Given the description of an element on the screen output the (x, y) to click on. 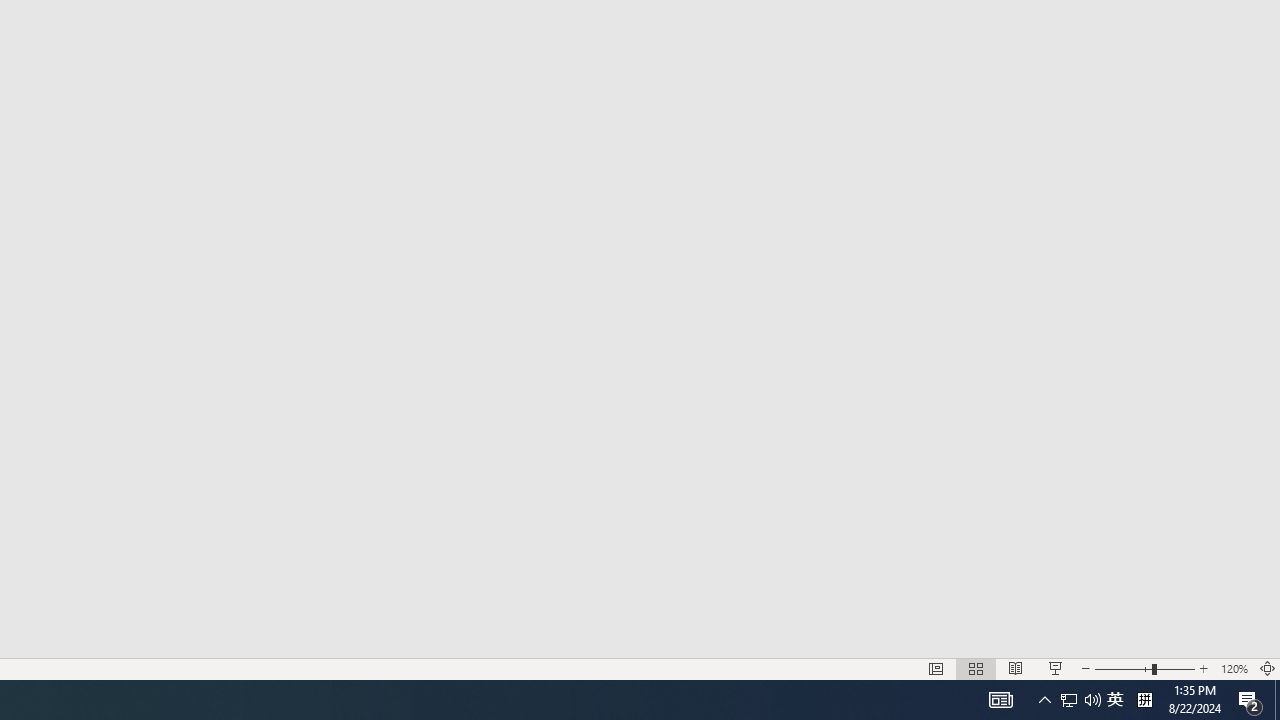
Zoom 120% (1234, 668)
